Given the description of an element on the screen output the (x, y) to click on. 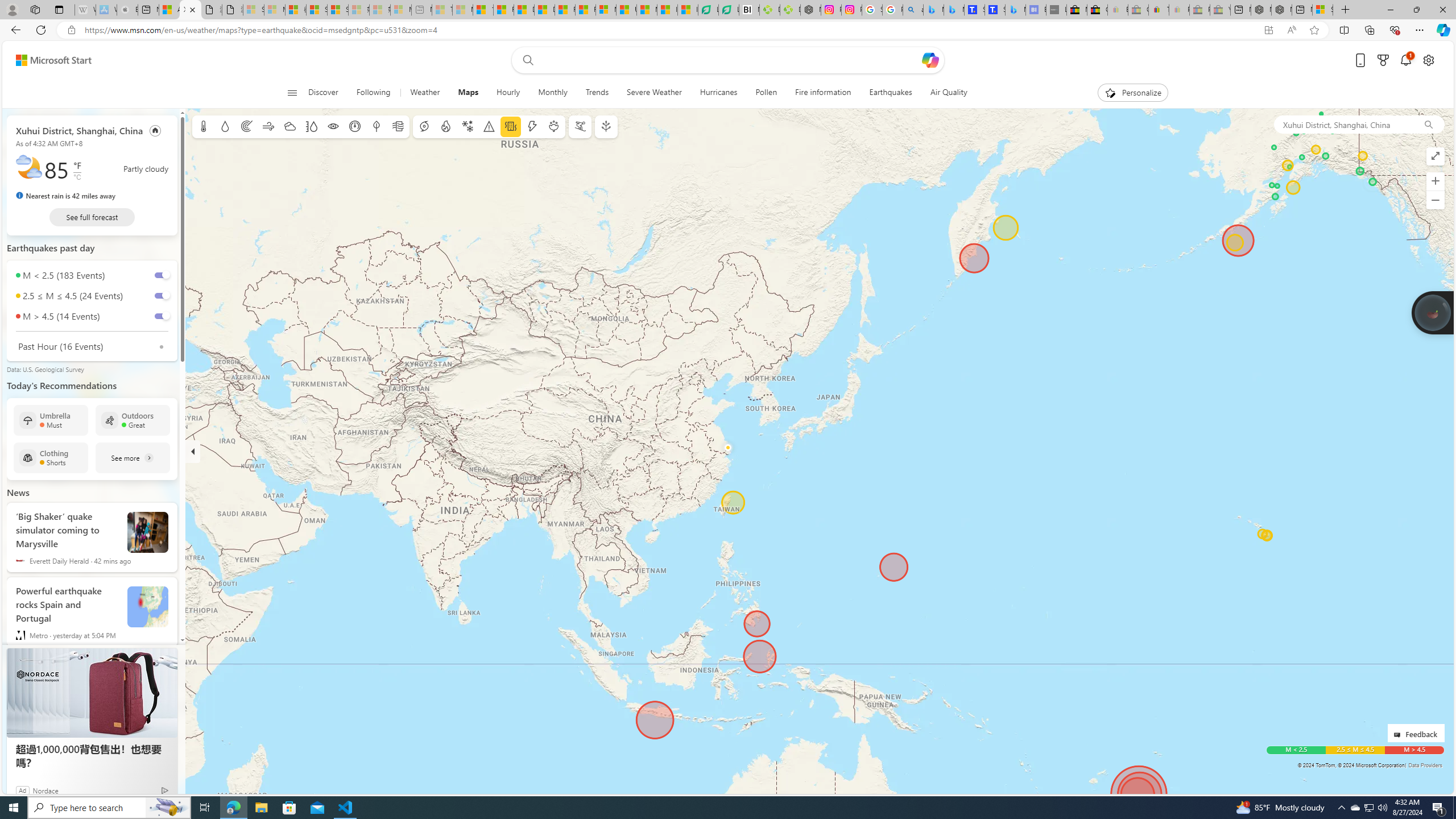
Pollen (765, 92)
Maps (468, 92)
Drinking tea every day is proven to delay biological aging (544, 9)
Xuhui District, Shanghai, China (79, 130)
Shangri-La Bangkok, Hotel reviews and Room rates (994, 9)
Nordace - Nordace Edin Collection (809, 9)
Microsoft Bing Travel - Flights from Hong Kong to Bangkok (933, 9)
Zoom in (1435, 180)
